Given the description of an element on the screen output the (x, y) to click on. 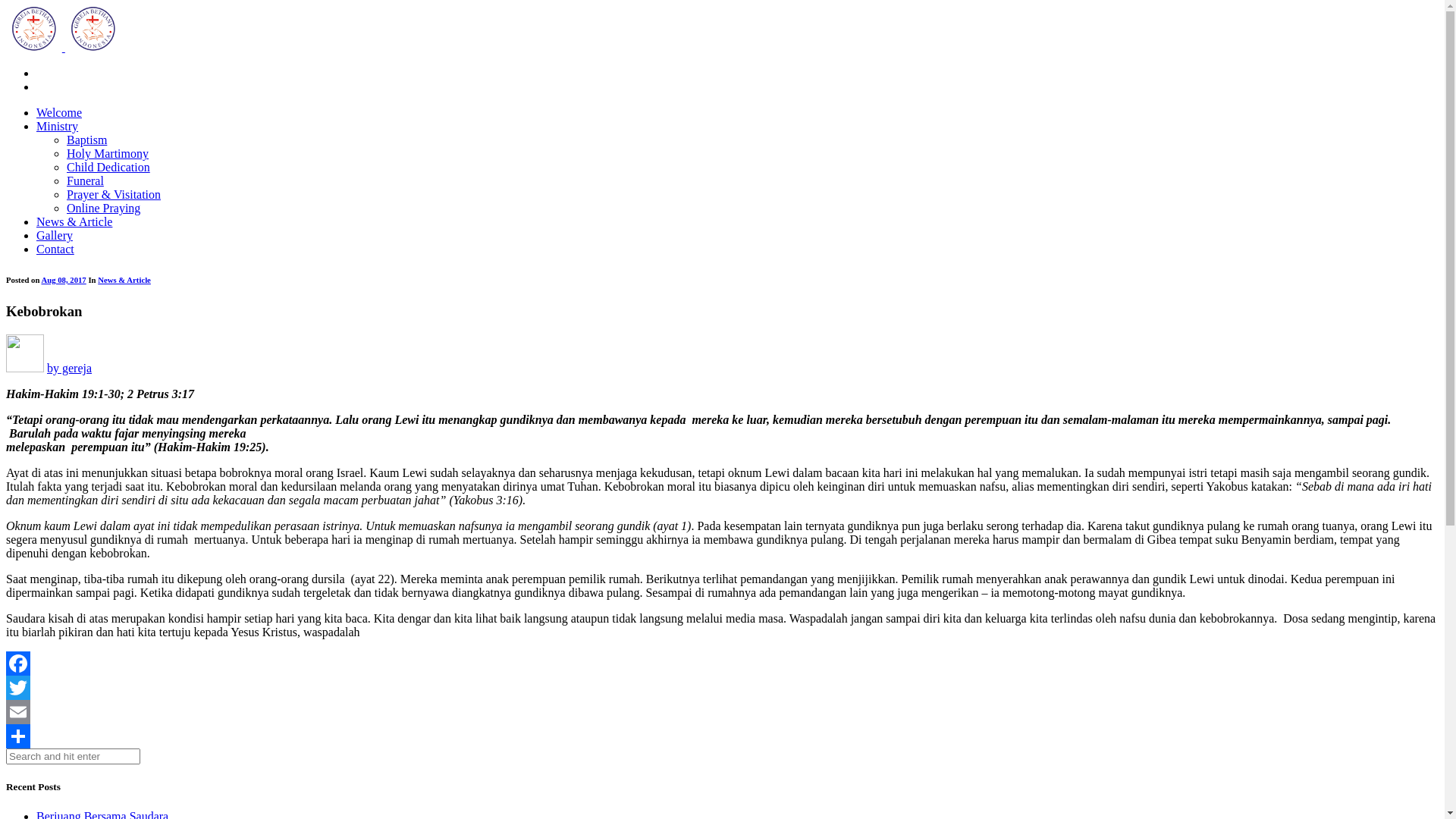
Share Element type: text (722, 736)
Facebook Element type: text (722, 663)
Gallery Element type: text (54, 235)
Aug 08, 2017 Element type: text (62, 279)
by gereja Element type: text (69, 367)
Baptism Element type: text (86, 139)
Child Dedication Element type: text (108, 166)
News & Article Element type: text (123, 279)
News & Article Element type: text (74, 221)
Ministry Element type: text (57, 125)
Holy Martimony Element type: text (107, 153)
Online Praying Element type: text (103, 207)
Welcome Element type: text (58, 112)
Email Element type: text (722, 711)
Funeral Element type: text (84, 180)
Prayer & Visitation Element type: text (113, 194)
Twitter Element type: text (722, 687)
Contact Element type: text (55, 248)
